Given the description of an element on the screen output the (x, y) to click on. 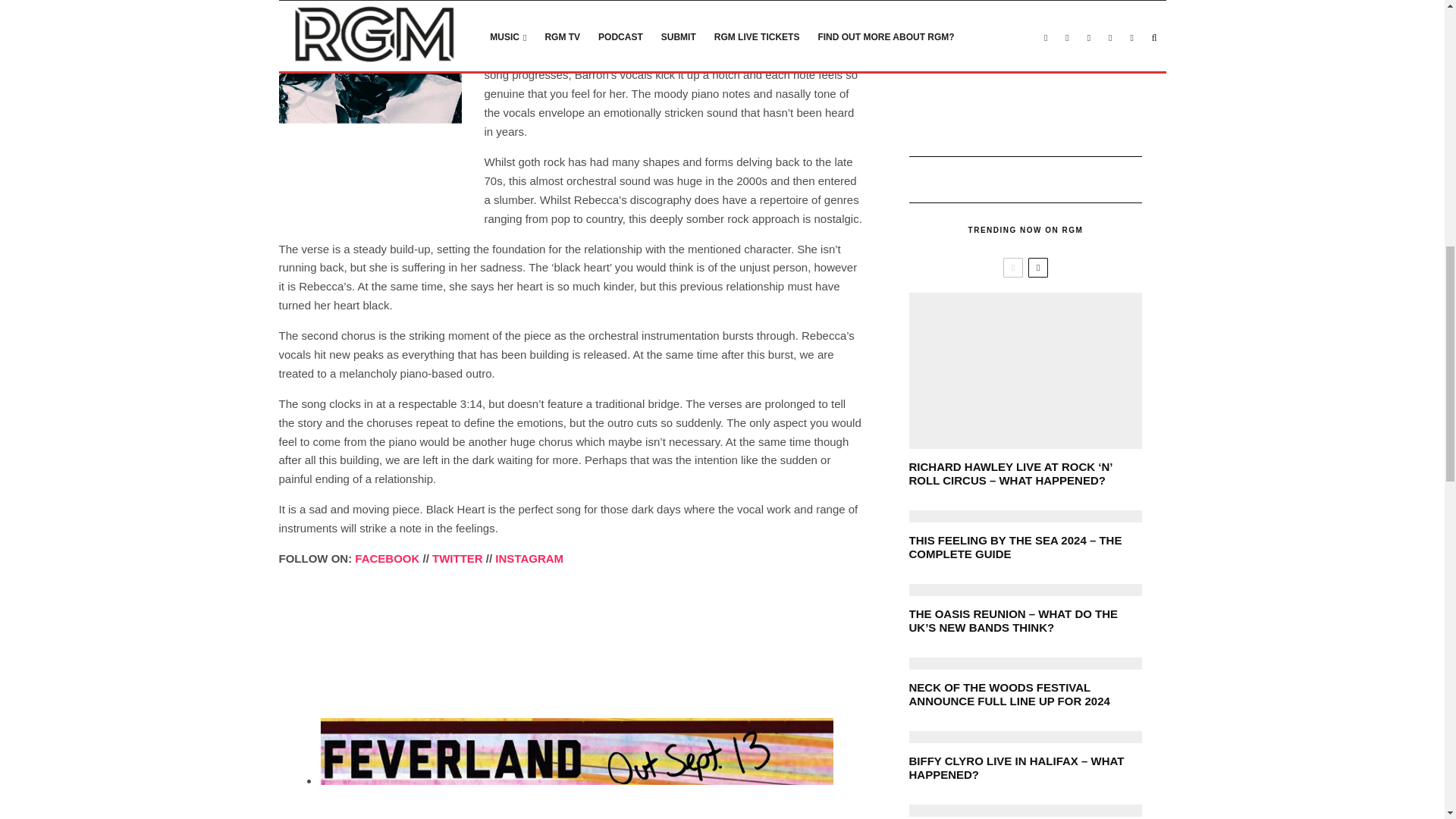
RICHARD HAWLEY AT ROCK N ROLL CIRCUS (1024, 370)
Oasis 2024 Press Shot (1024, 589)
THIS FEELING BY THE SEA poster (1024, 516)
NECK OF THE WOODS FESTIVAL (1024, 663)
OASIS ARE BACK (1024, 810)
Spotify Embed: Black Heart (571, 637)
Biffy Clyro at the Piece Hall (1024, 736)
FACEBOOK  (529, 558)
TWITTER  (457, 558)
FACEBOOK  (387, 558)
